Given the description of an element on the screen output the (x, y) to click on. 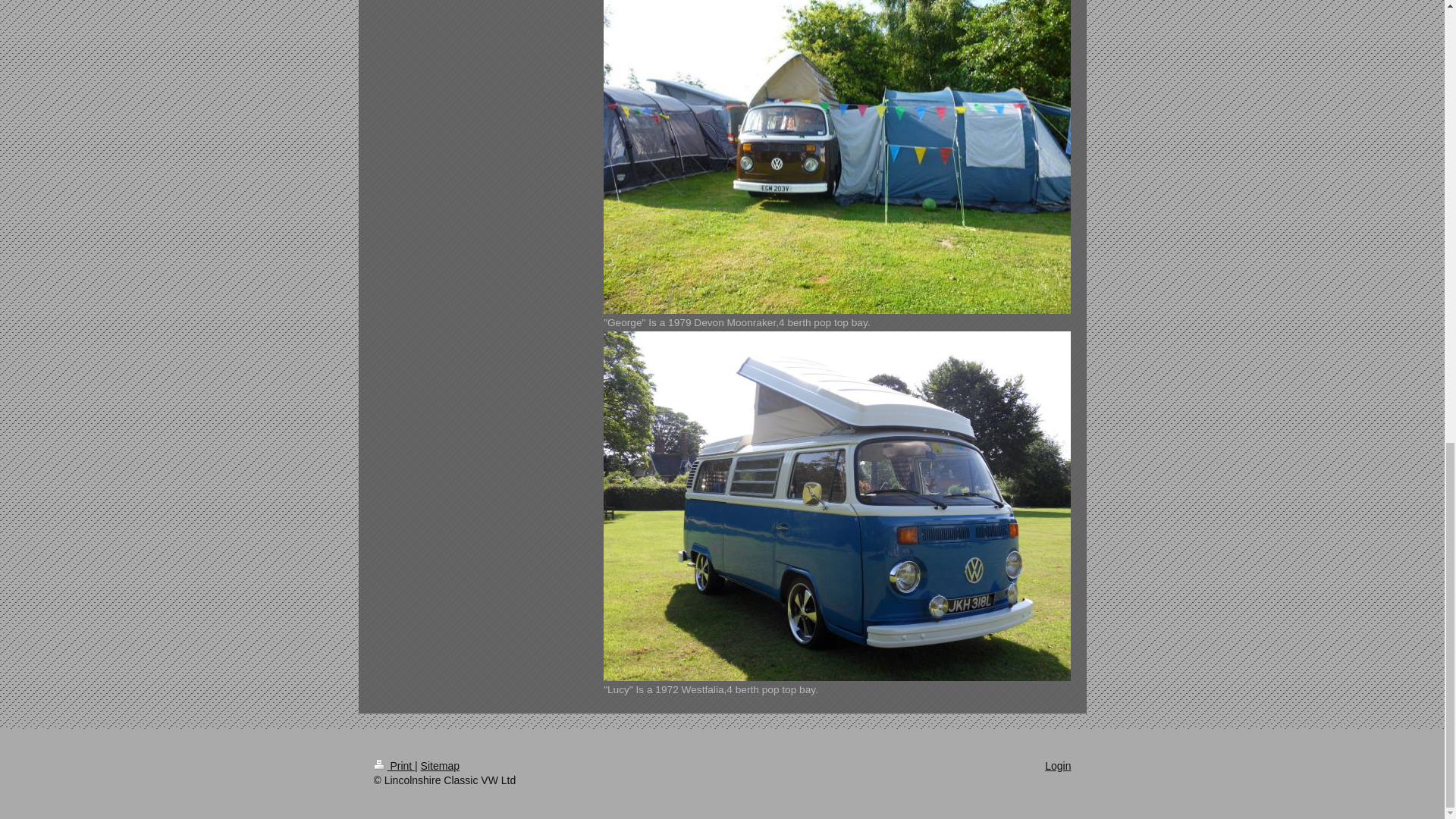
Login (1057, 766)
Print (393, 766)
Sitemap (440, 766)
